Given the description of an element on the screen output the (x, y) to click on. 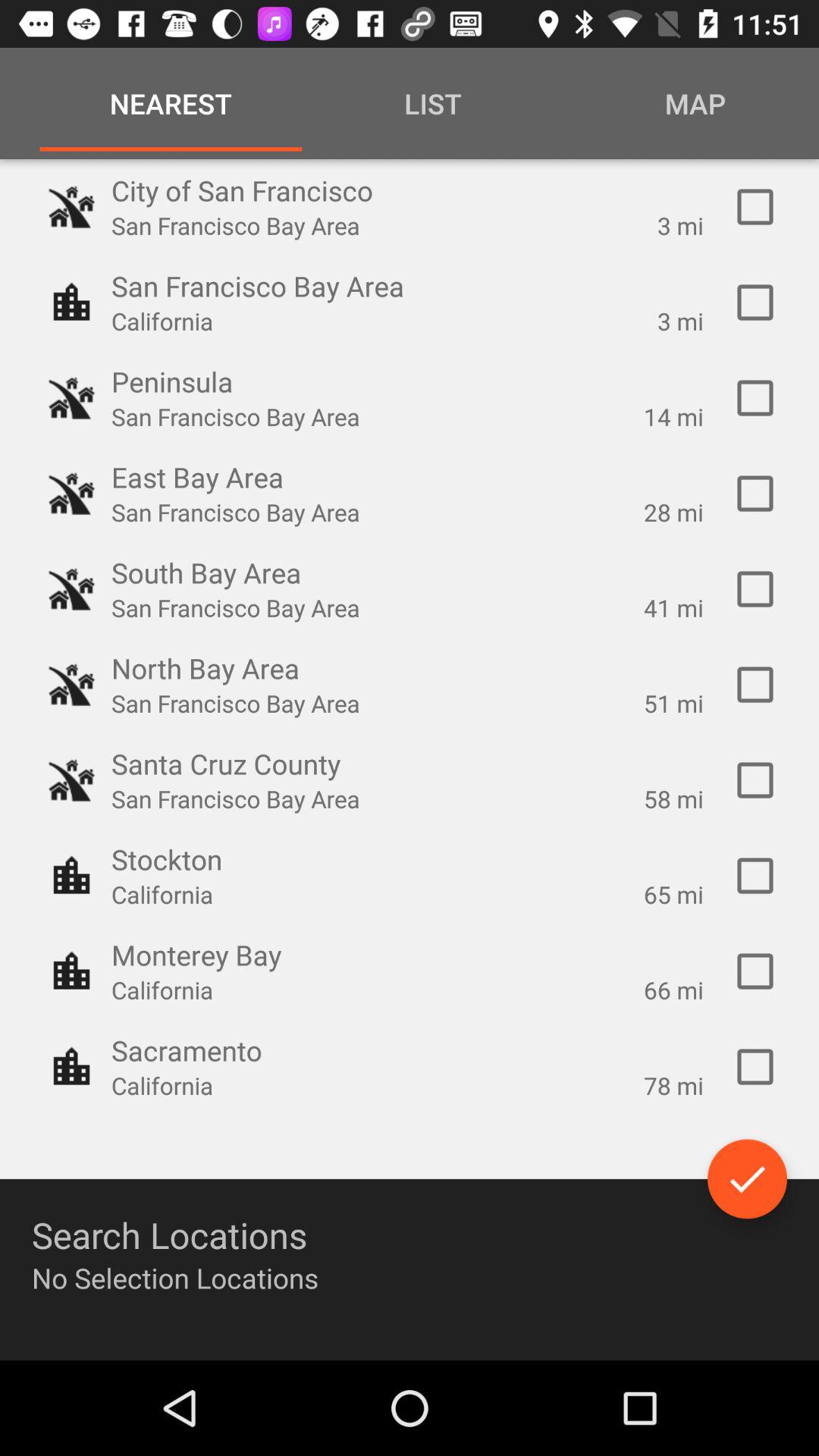
select the option (755, 780)
